Given the description of an element on the screen output the (x, y) to click on. 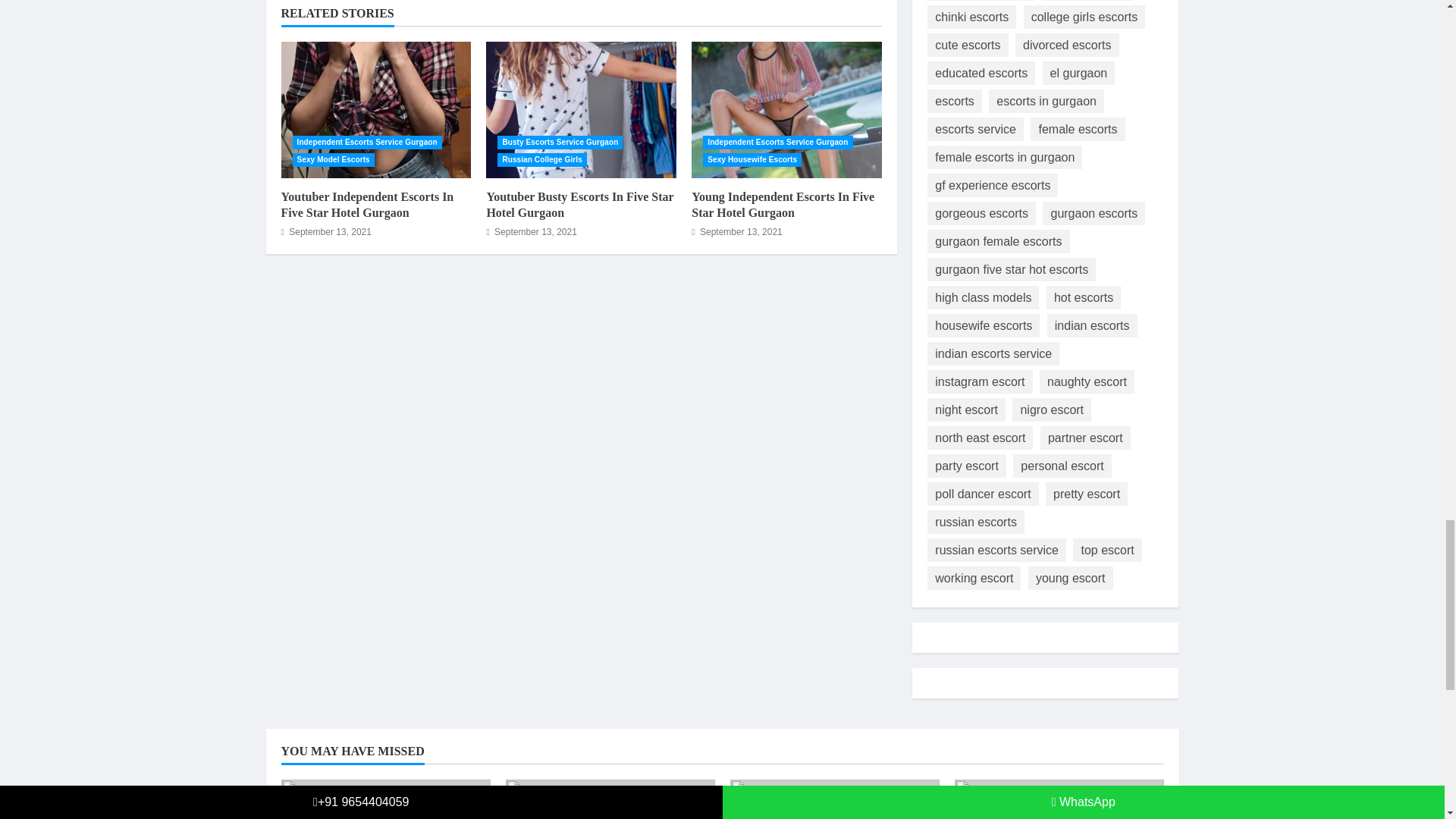
Youtuber Independent Escorts In Five Star Hotel Gurgaon (375, 109)
Young Independent Escorts In Five Star Hotel Gurgaon (786, 109)
Independent Escorts Service Gurgaon (777, 142)
Youtuber Independent Escorts In Five Star Hotel Gurgaon (366, 204)
Youtuber Busty Escorts In Five Star Hotel Gurgaon (579, 204)
Independent Escorts Service Gurgaon (367, 142)
Youtuber Busty Escorts In Five Star Hotel Gurgaon (581, 109)
Busty Escorts Service Gurgaon (560, 142)
Russian College Girls (541, 160)
Sexy Housewife Escorts (752, 160)
Young Independent Escorts In Five Star Hotel Gurgaon (783, 204)
Sexy Model Escorts (333, 160)
